Given the description of an element on the screen output the (x, y) to click on. 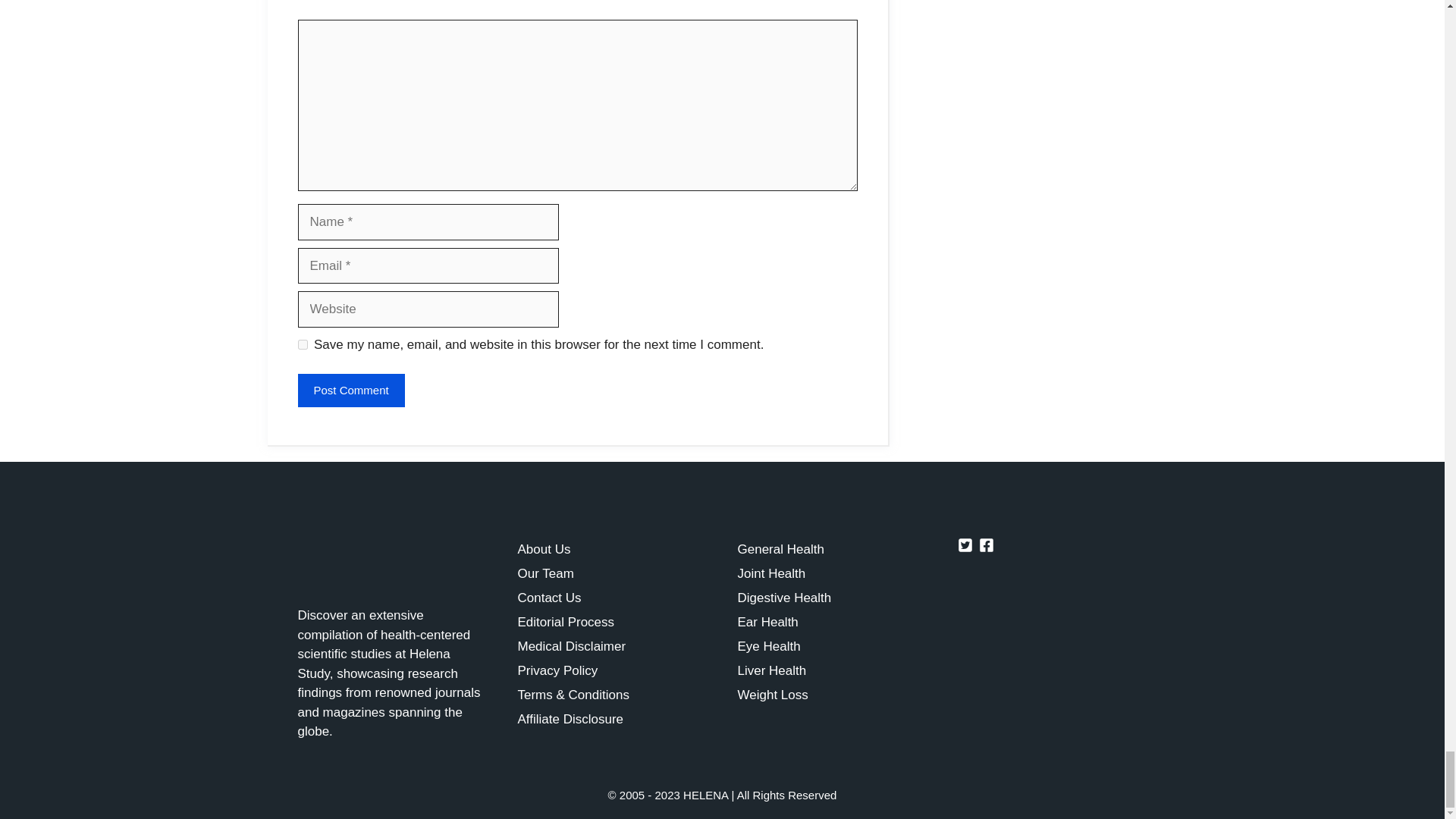
yes (302, 344)
Post Comment (350, 390)
